Given the description of an element on the screen output the (x, y) to click on. 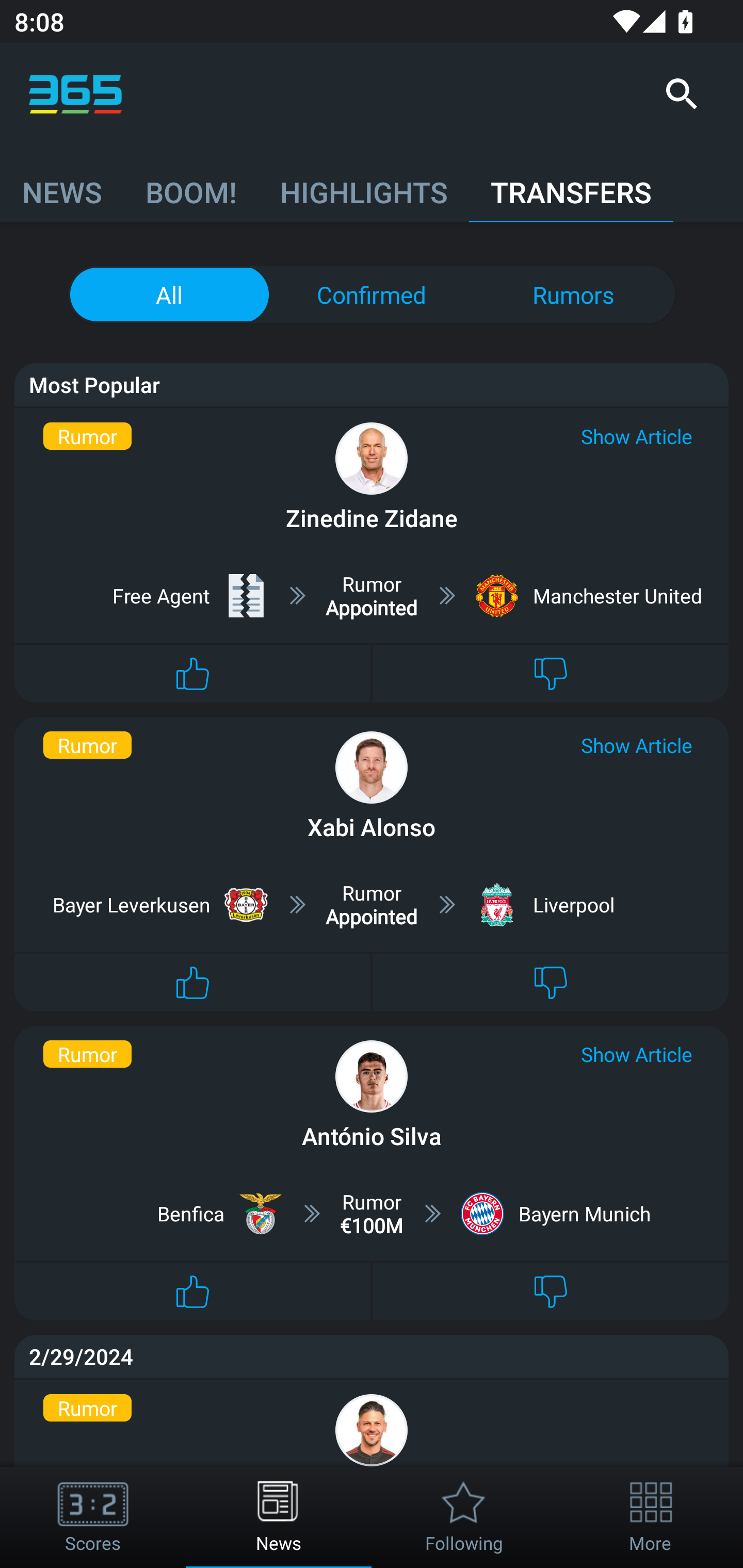
Search (681, 93)
NEWS (61, 183)
BOOM! (190, 183)
HIGHLIGHTS (362, 183)
TRANSFERS (570, 183)
Confirmed (371, 293)
Rumors (573, 293)
Show Article (636, 435)
Show Article (636, 744)
Show Article (636, 1053)
Rumor Martin Demichelis (371, 1428)
Scores (92, 1517)
Following (464, 1517)
More (650, 1517)
